Given the description of an element on the screen output the (x, y) to click on. 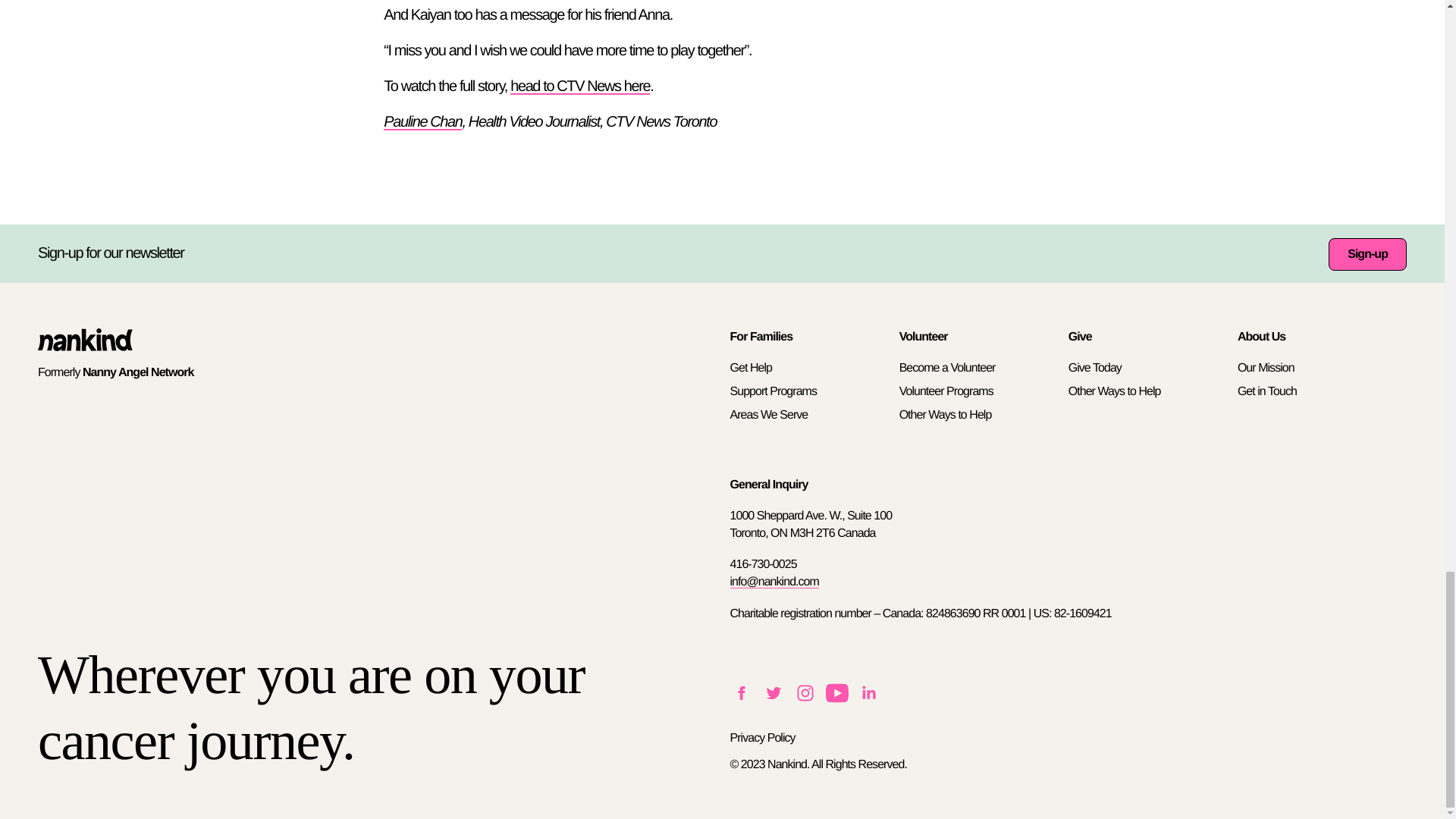
Areas We Serve (768, 415)
YouTube (836, 699)
Get Help (750, 367)
Other Ways to Help (945, 415)
Give Today (1094, 367)
Our Mission (1265, 367)
Support Programs (772, 391)
Volunteer Programs (945, 391)
Instagram (804, 699)
Other Ways to Help (1114, 391)
Pauline Chan (422, 121)
Sign-up (1366, 254)
Get in Touch (1267, 391)
Become a Volunteer (947, 367)
head to CTV News here (580, 86)
